Given the description of an element on the screen output the (x, y) to click on. 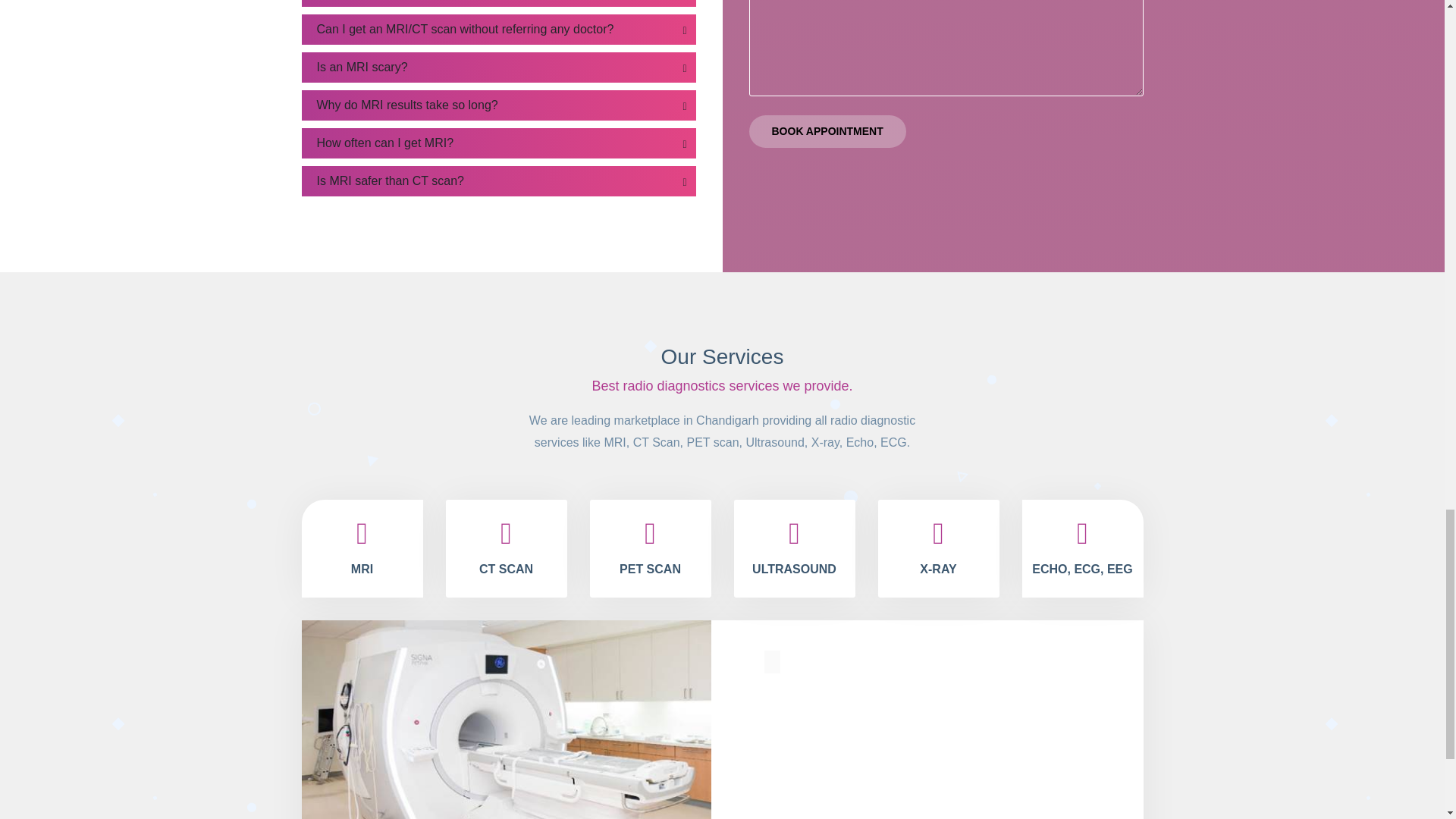
Book Appointment (827, 131)
Book Appointment (827, 131)
MRI (362, 548)
ECHO, ECG, EEG (1082, 548)
What is the approximate cost of an MRI scan in Chandigarh? (498, 3)
ULTRASOUND (794, 548)
Is MRI safer than CT scan? (498, 181)
X-RAY (937, 548)
PET SCAN (650, 548)
Why do MRI results take so long? (498, 105)
